Given the description of an element on the screen output the (x, y) to click on. 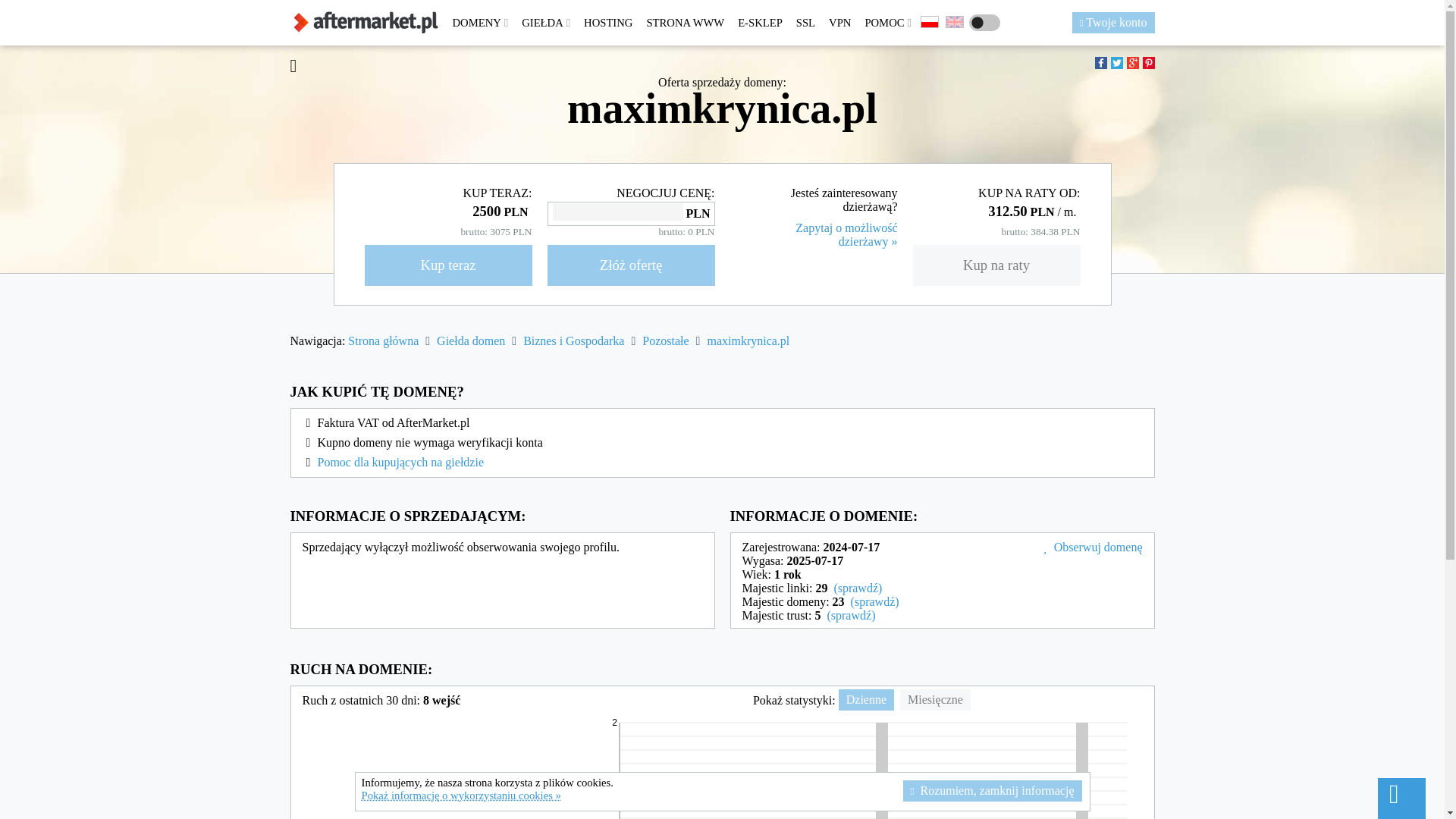
Twoje konto (1112, 22)
logo aftermarket (365, 22)
DOMENY (480, 22)
on (984, 22)
